Given the description of an element on the screen output the (x, y) to click on. 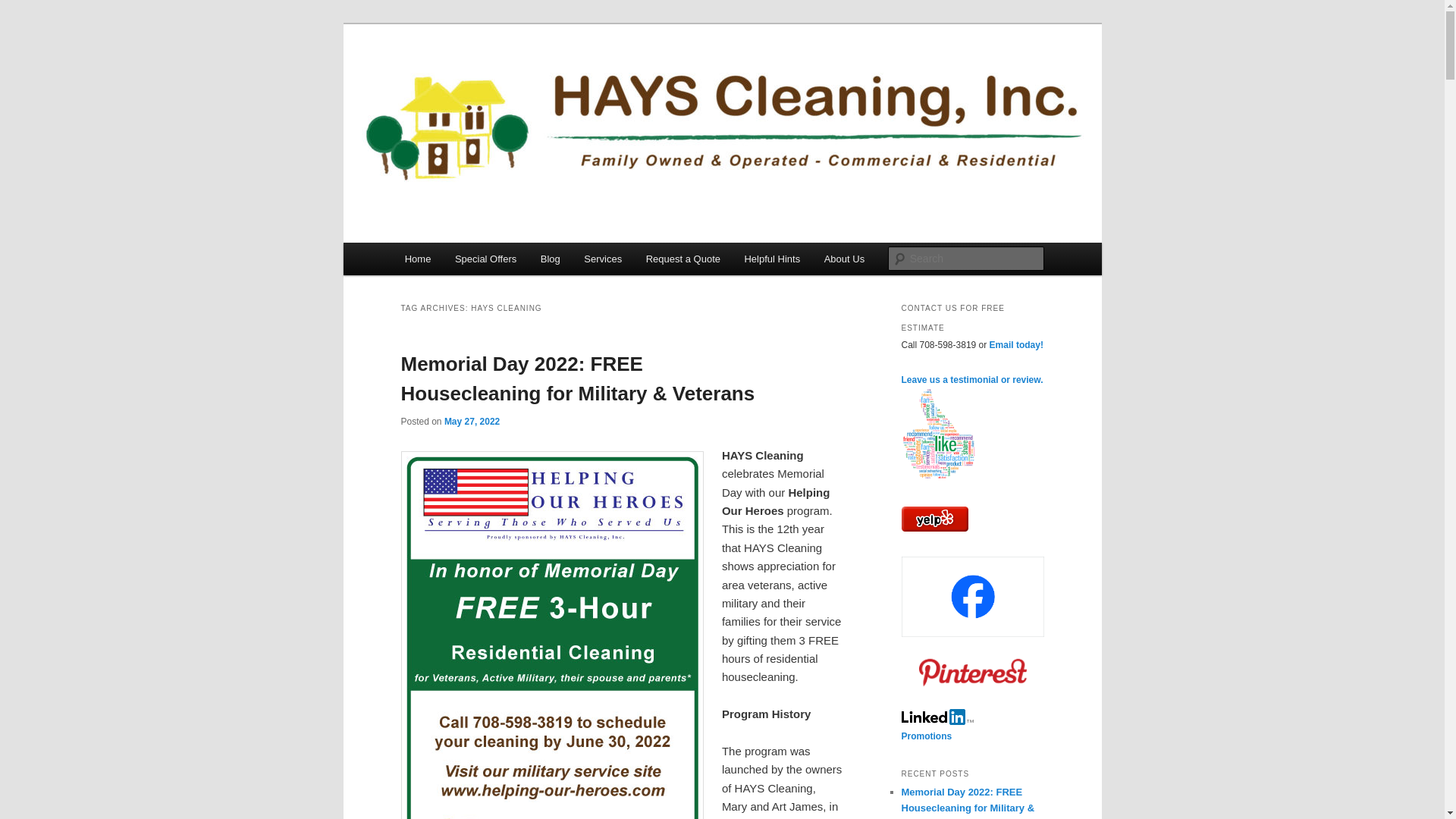
3:04 pm (471, 420)
Blog (550, 258)
May 27, 2022 (471, 420)
Services (602, 258)
Home (417, 258)
About Us (844, 258)
HAYS Cleaning, Inc. (507, 78)
Request a Quote (682, 258)
Helpful Hints (772, 258)
Special Offers (485, 258)
Search (24, 8)
